Given the description of an element on the screen output the (x, y) to click on. 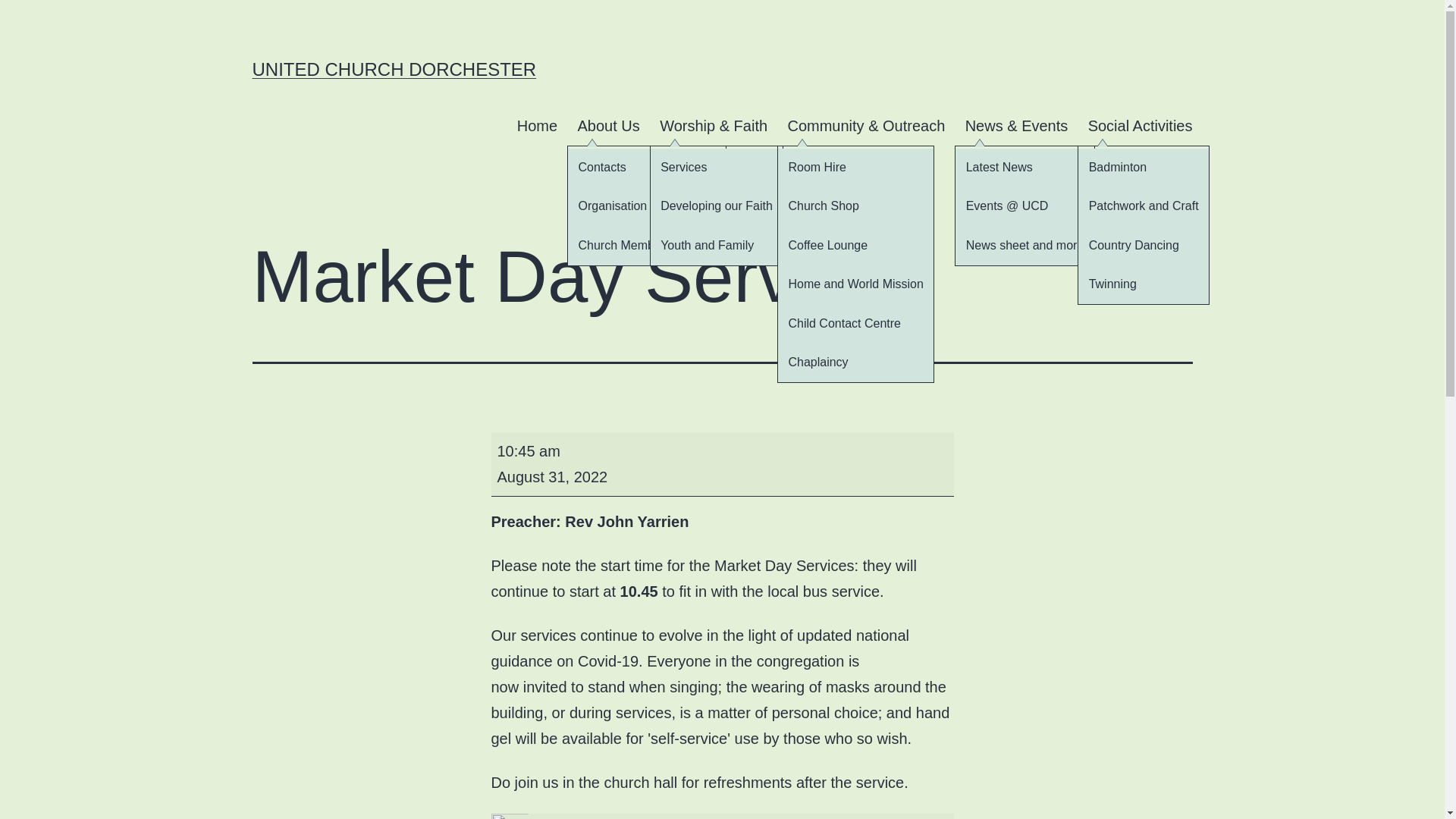
Developing our Faith (716, 206)
Church Shop (855, 245)
Badminton (1143, 167)
Patchwork and Craft (1143, 206)
Child Contact Centre (855, 323)
Services (716, 167)
News sheet and more (1024, 245)
Latest News (1024, 167)
About Us (646, 245)
Twinning (1143, 284)
